Given the description of an element on the screen output the (x, y) to click on. 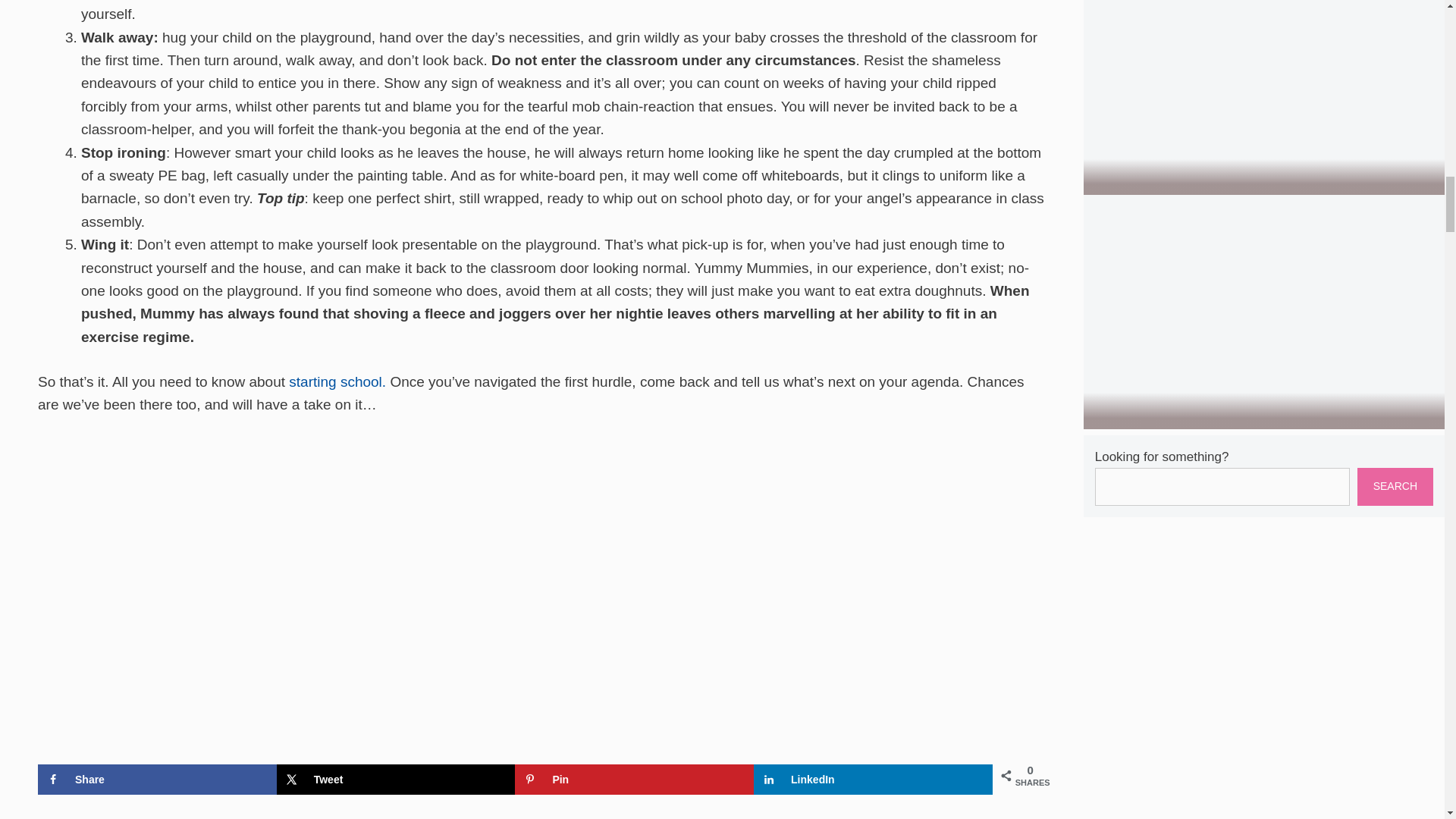
Tweet (395, 779)
LinkedIn (873, 779)
Share on Facebook (156, 779)
starting school. (336, 381)
Share (156, 779)
Share on LinkedIn (873, 779)
Pin (634, 779)
Save to Pinterest (634, 779)
Share on X (395, 779)
